Given the description of an element on the screen output the (x, y) to click on. 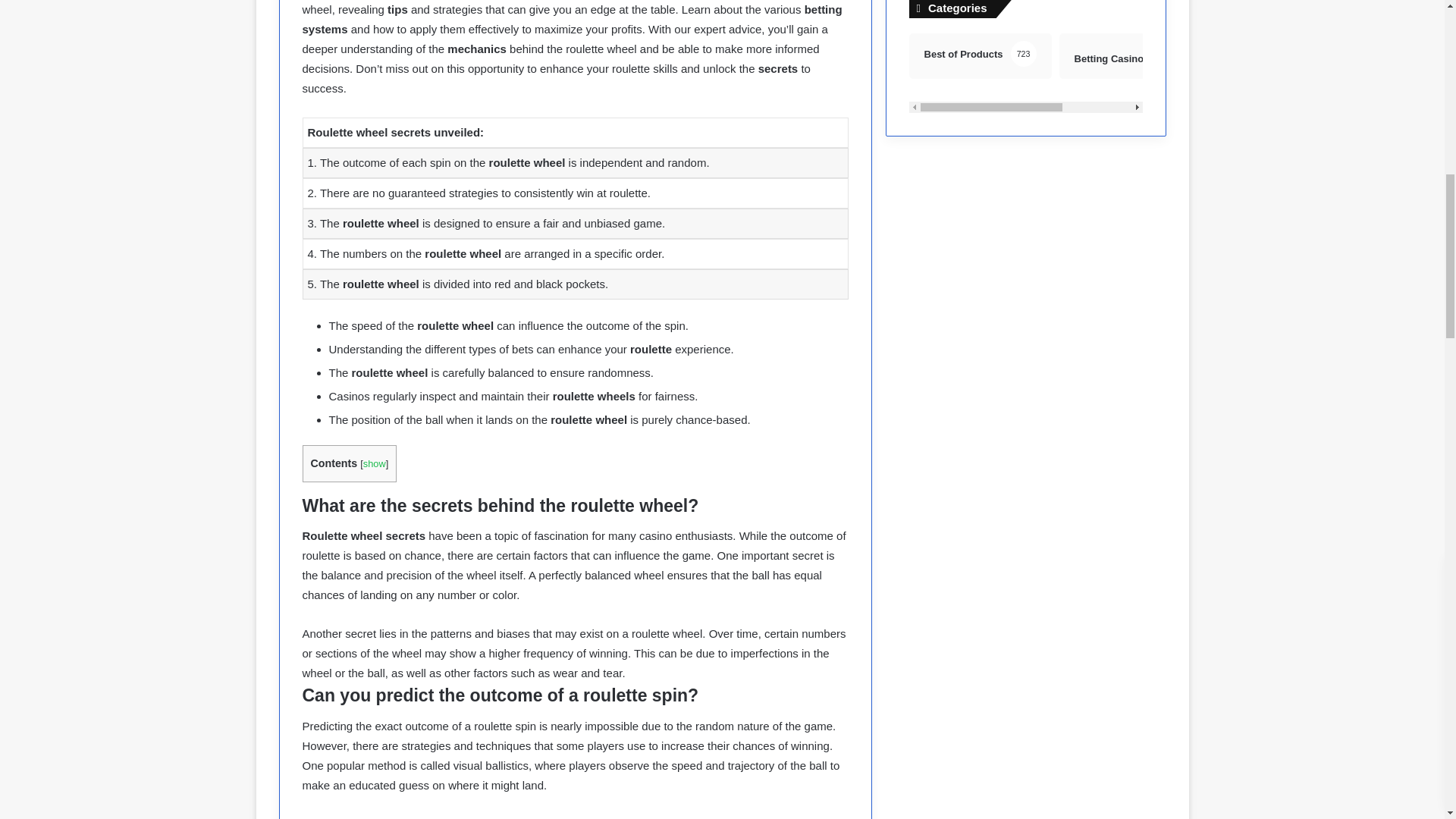
show (1025, 73)
